Given the description of an element on the screen output the (x, y) to click on. 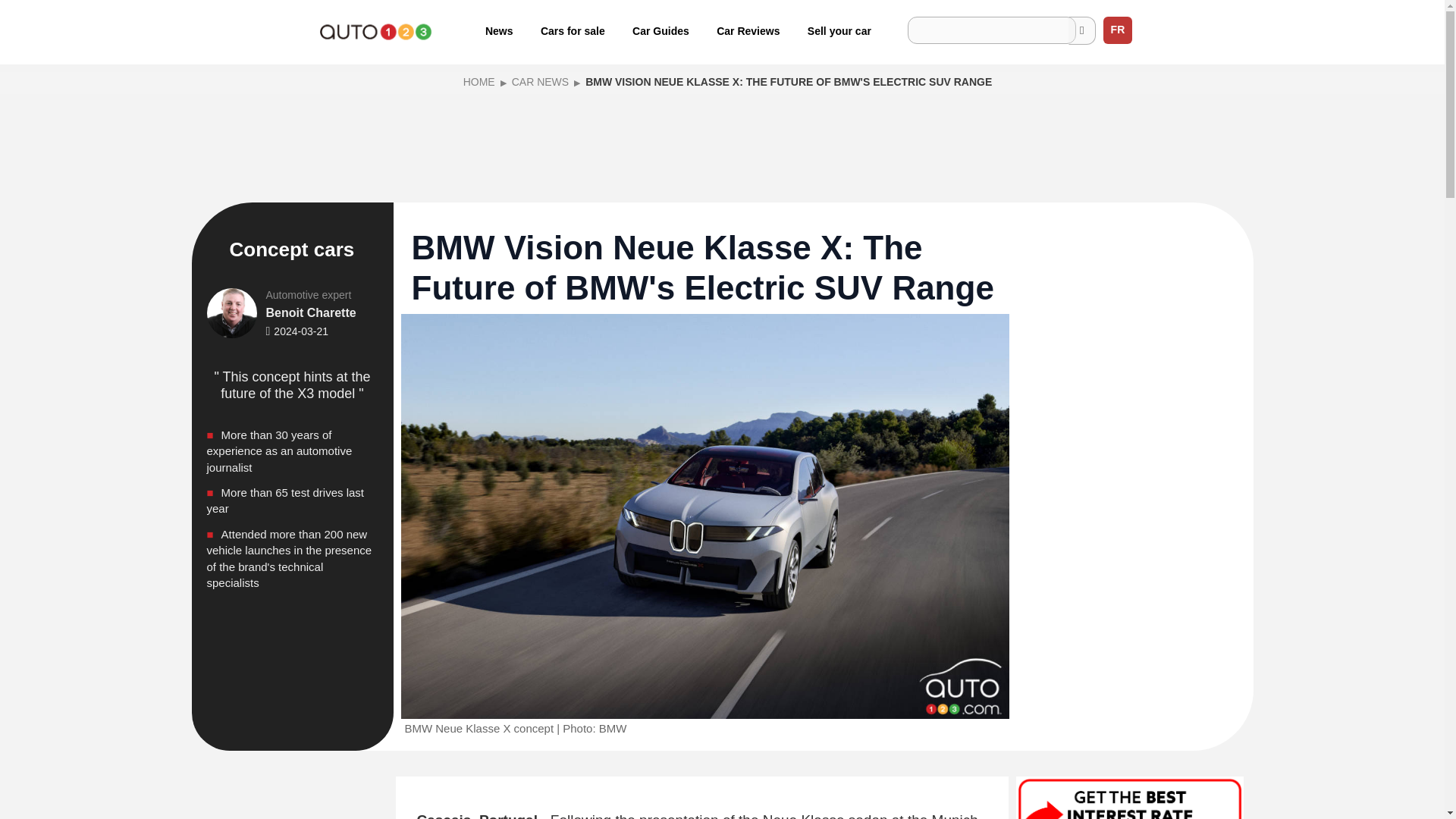
News (499, 30)
Car Guides (660, 30)
Sell your car (839, 30)
Cars for sale (572, 30)
Cars for sale (572, 30)
News (499, 30)
Car Reviews (748, 30)
Sell your car (839, 30)
Car Guides (660, 30)
Car Reviews (748, 30)
